Given the description of an element on the screen output the (x, y) to click on. 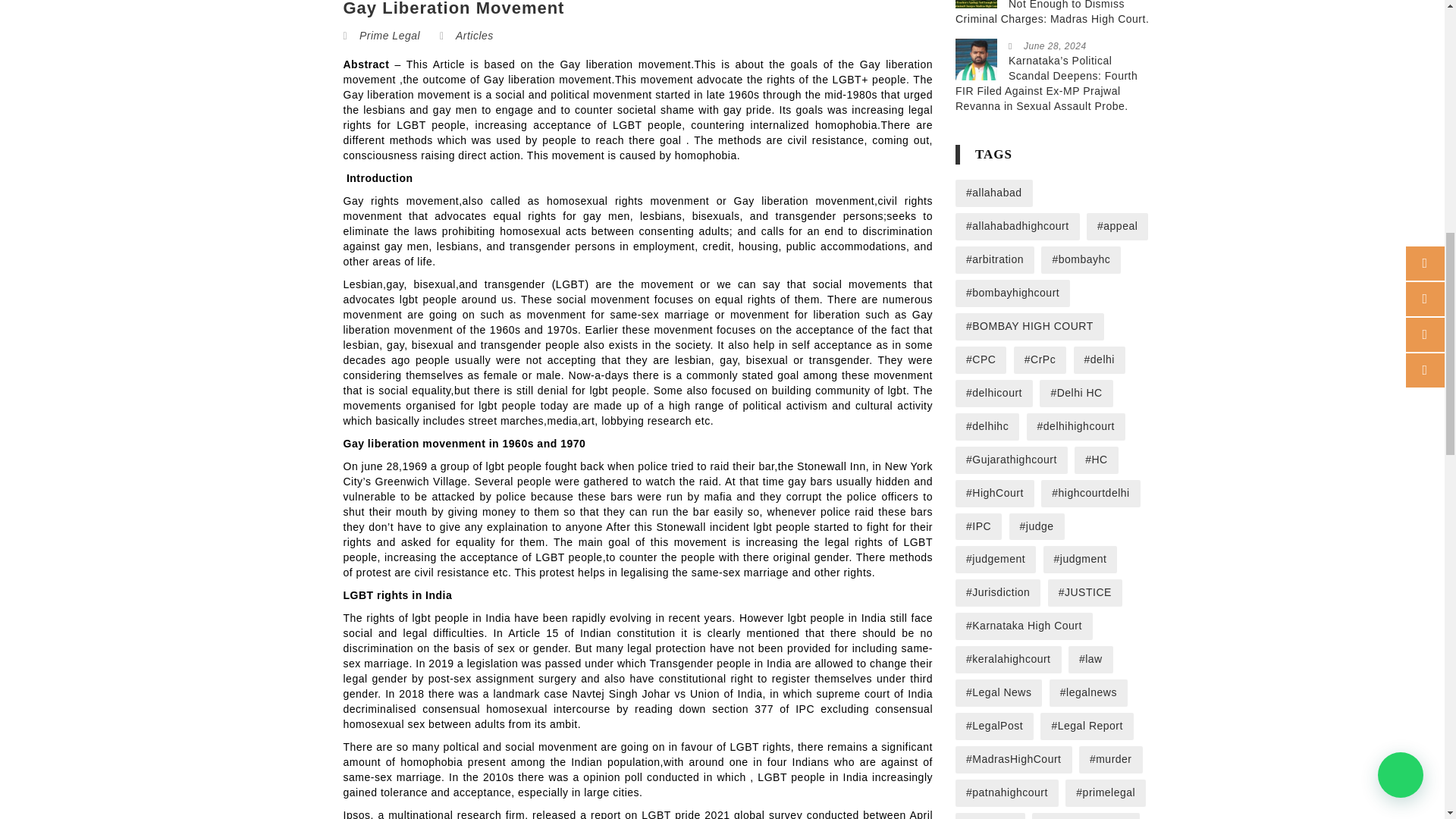
View all posts by Prime Legal (389, 35)
Prime Legal (389, 35)
Articles (474, 35)
